Given the description of an element on the screen output the (x, y) to click on. 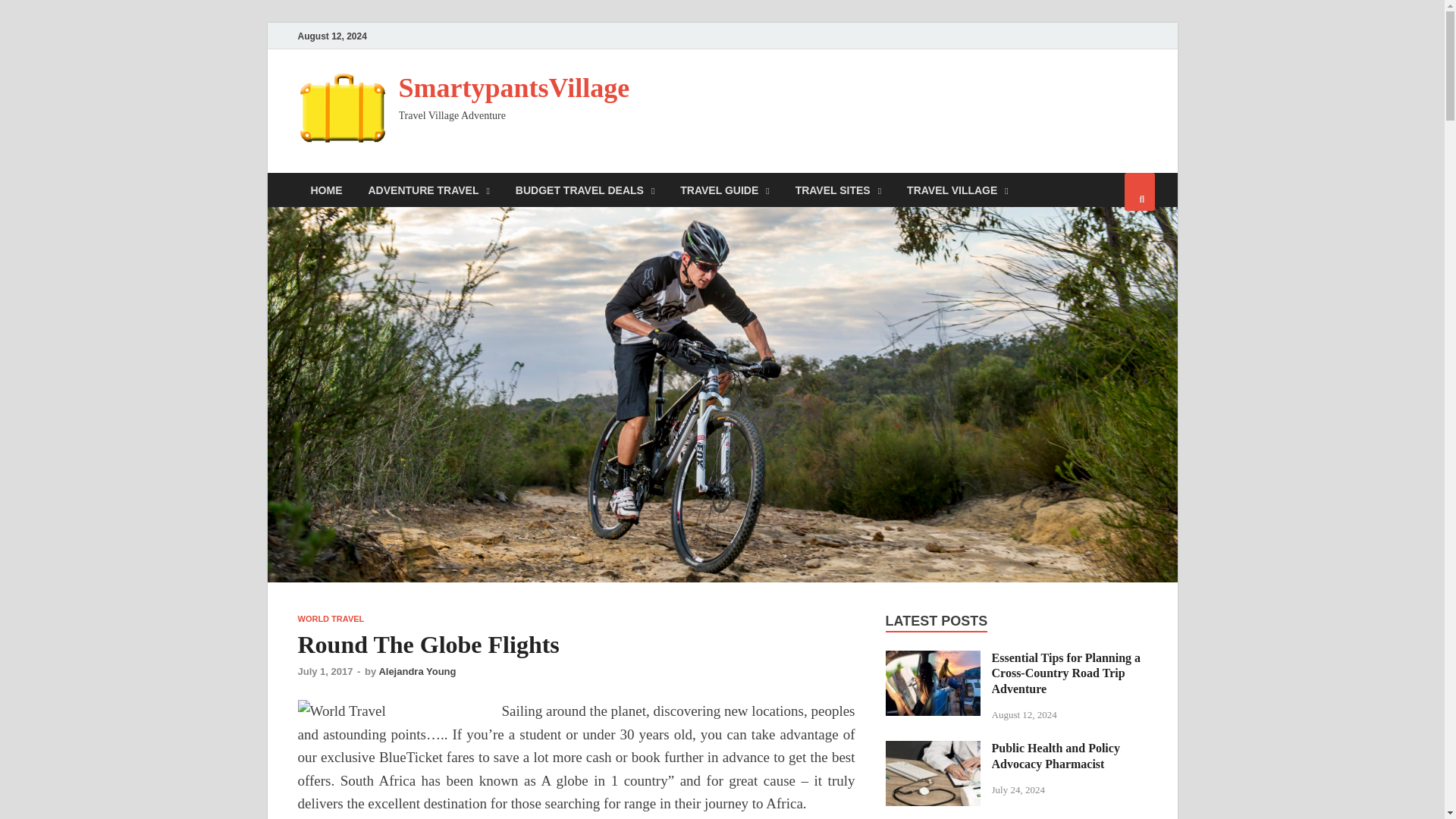
TRAVEL VILLAGE (957, 189)
BUDGET TRAVEL DEALS (584, 189)
TRAVEL SITES (838, 189)
TRAVEL GUIDE (723, 189)
SmartypantsVillage (514, 87)
July 1, 2017 (324, 671)
HOME (326, 189)
WORLD TRAVEL (330, 618)
ADVENTURE TRAVEL (428, 189)
